Given the description of an element on the screen output the (x, y) to click on. 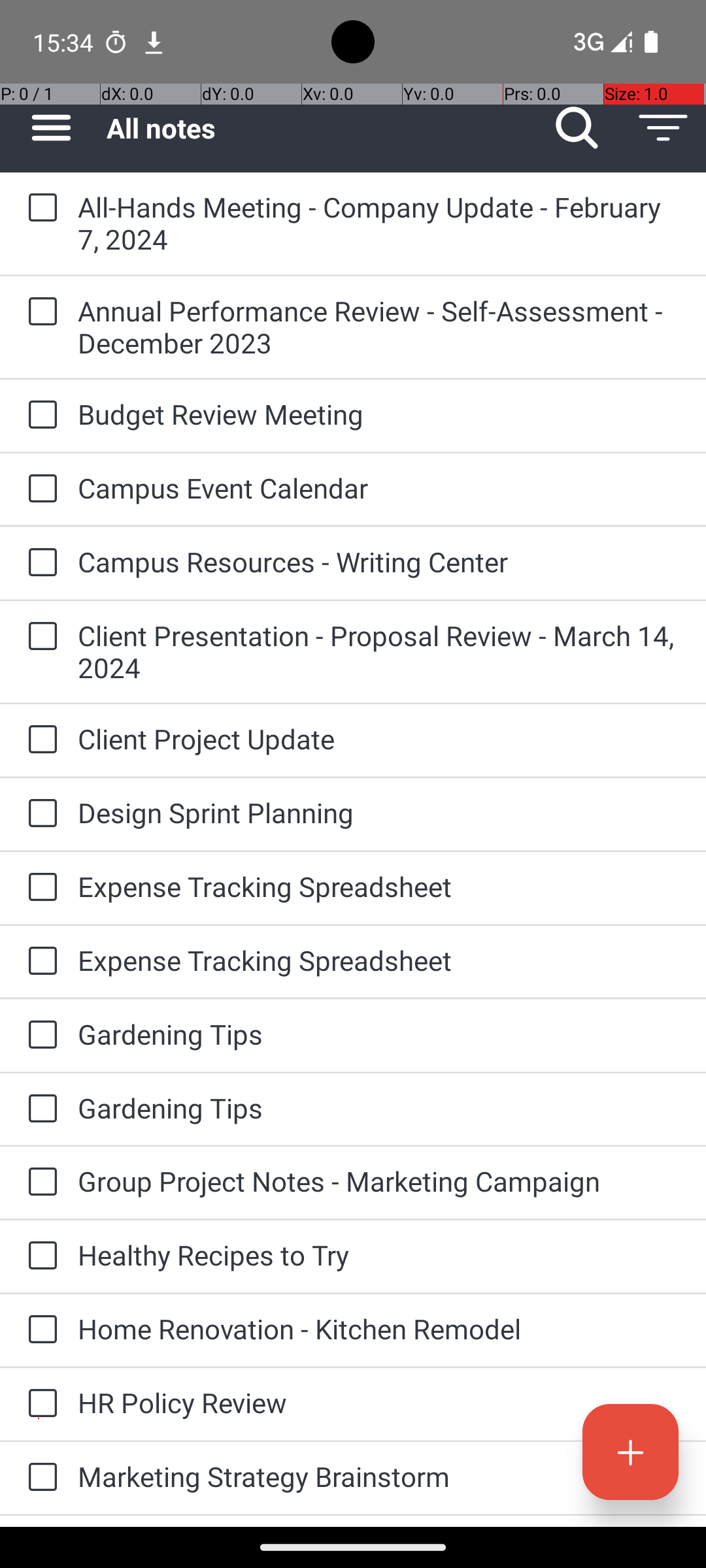
to-do: Campus Resources - Writing Center Element type: android.widget.CheckBox (38, 563)
Campus Resources - Writing Center Element type: android.widget.TextView (378, 561)
to-do: Client Presentation - Proposal Review - March 14, 2024 Element type: android.widget.CheckBox (38, 636)
Client Presentation - Proposal Review - March 14, 2024 Element type: android.widget.TextView (378, 651)
to-do: Expense Tracking Spreadsheet Element type: android.widget.CheckBox (38, 887)
to-do: Healthy Recipes to Try Element type: android.widget.CheckBox (38, 1256)
Healthy Recipes to Try Element type: android.widget.TextView (378, 1254)
to-do: Home Renovation - Kitchen Remodel Element type: android.widget.CheckBox (38, 1330)
Home Renovation - Kitchen Remodel Element type: android.widget.TextView (378, 1328)
to-do: HR Policy Review Element type: android.widget.CheckBox (38, 1403)
HR Policy Review Element type: android.widget.TextView (378, 1402)
to-do: Marketing Strategy Brainstorm Element type: android.widget.CheckBox (38, 1477)
Marketing Strategy Brainstorm Element type: android.widget.TextView (378, 1475)
